Given the description of an element on the screen output the (x, y) to click on. 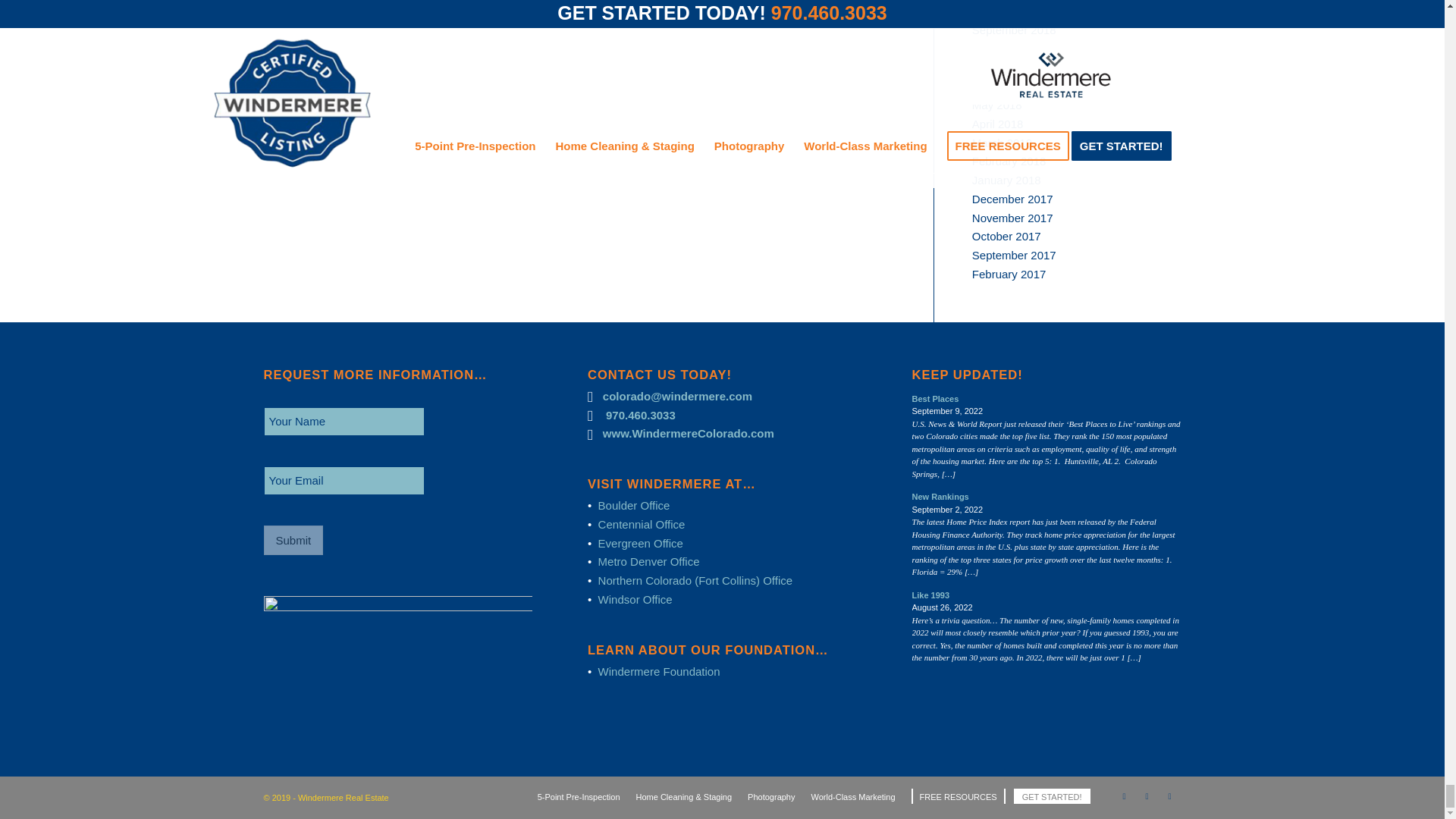
Facebook (1124, 795)
Twitter (1169, 795)
Instagram (1146, 795)
